Given the description of an element on the screen output the (x, y) to click on. 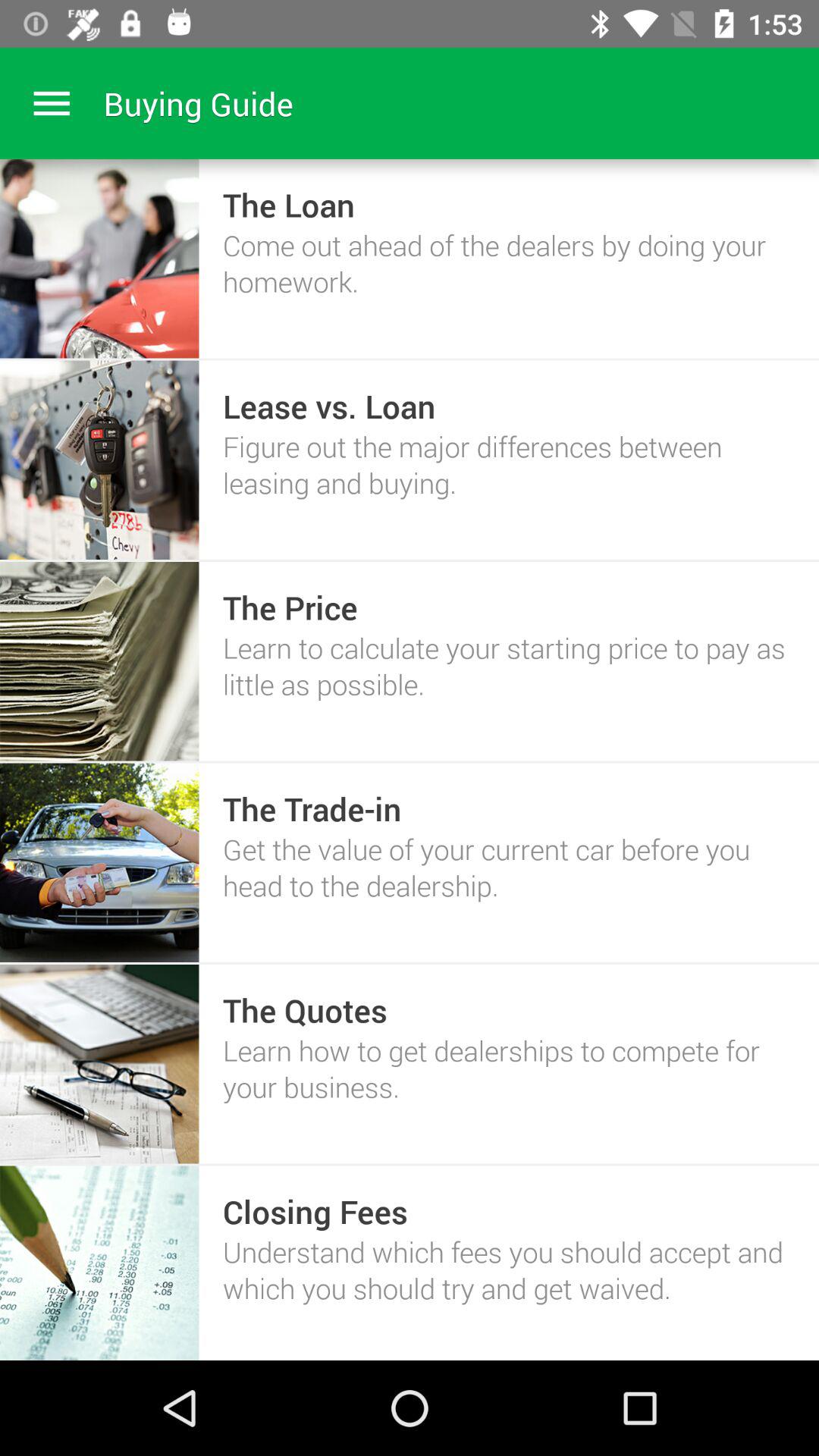
turn off the trade-in (311, 808)
